Given the description of an element on the screen output the (x, y) to click on. 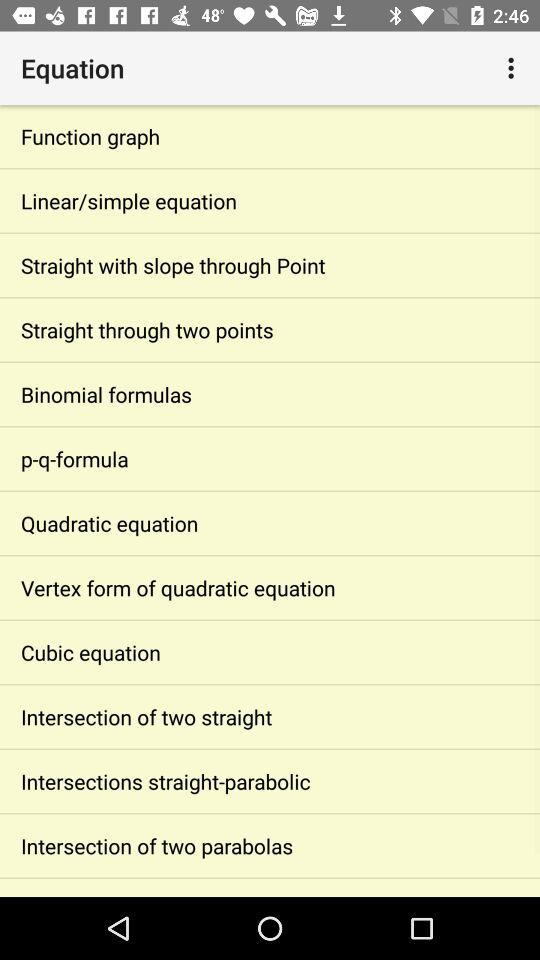
launch binomial formulas item (270, 394)
